Given the description of an element on the screen output the (x, y) to click on. 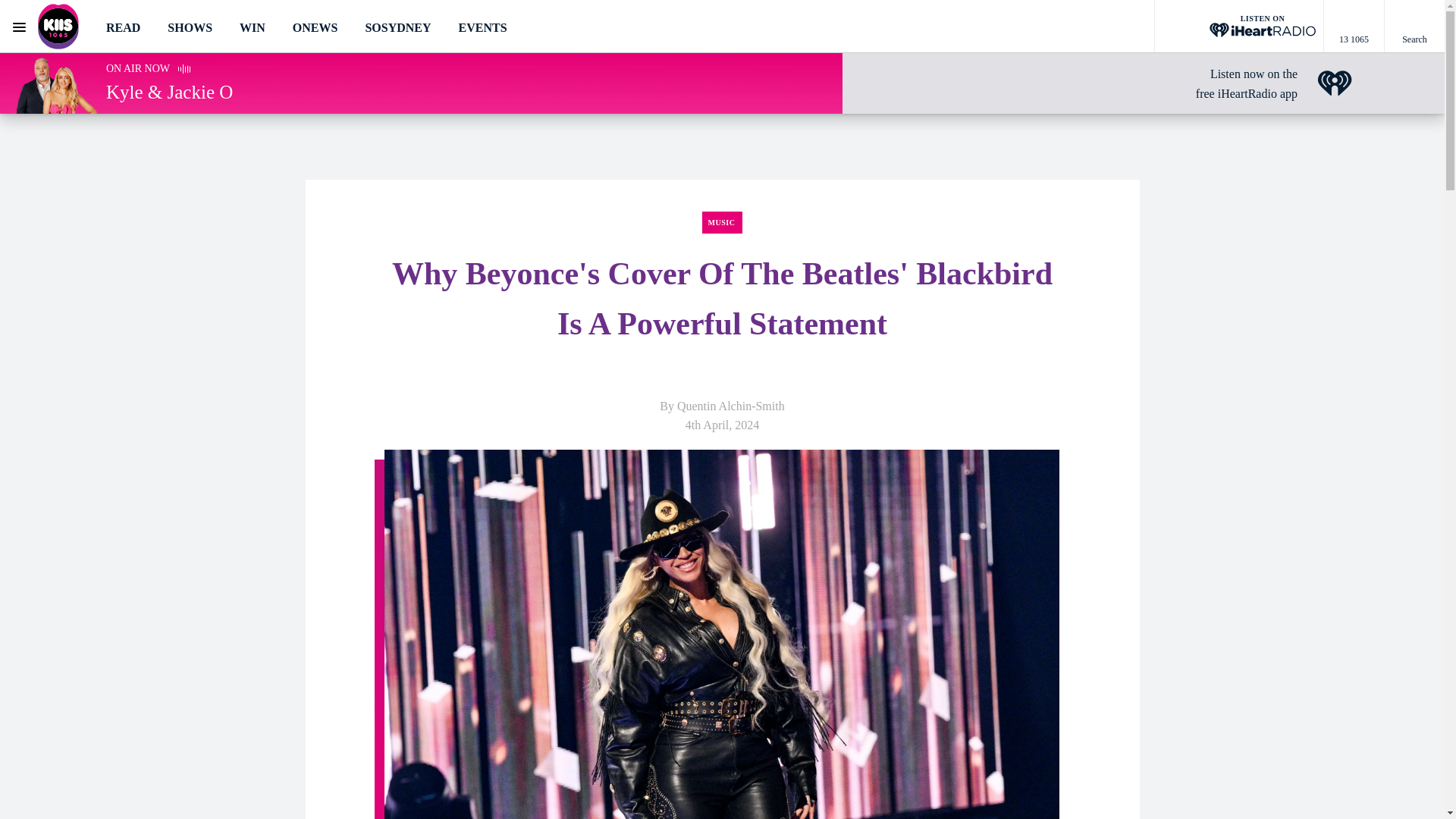
WIN (252, 26)
Menu (18, 26)
ON AIR NOW (138, 68)
SHOWS (189, 26)
iHeart (1334, 82)
EVENTS (482, 26)
READ (122, 26)
13 1065 (1353, 26)
LISTEN ON (1238, 26)
ONEWS (314, 26)
SOSYDNEY (397, 26)
